Given the description of an element on the screen output the (x, y) to click on. 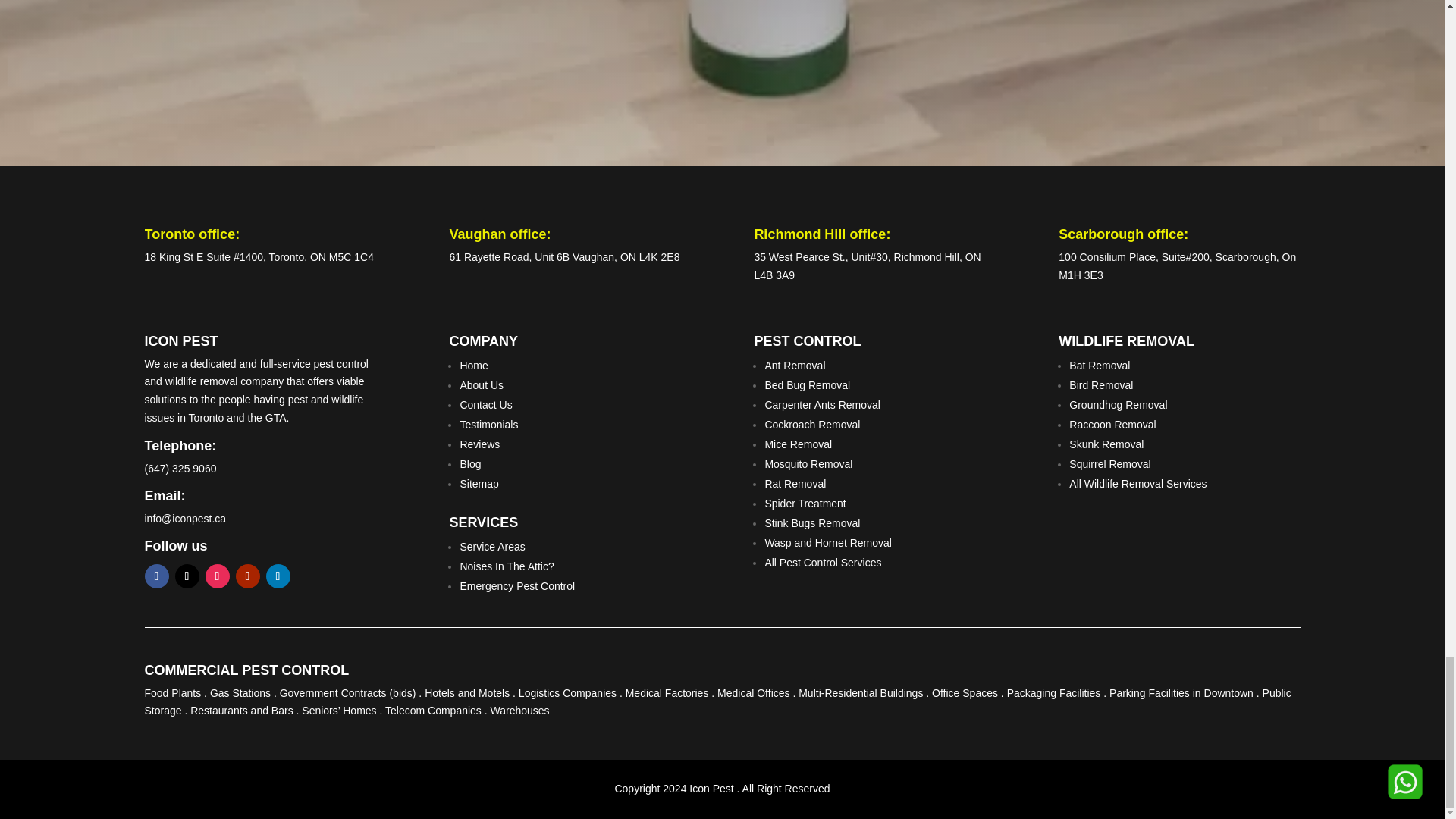
Follow on LinkedIn (276, 576)
Follow on Youtube (246, 576)
Follow on Facebook (156, 576)
Mosquito Removal (807, 463)
Follow on X (186, 576)
Follow on Instagram (216, 576)
